Given the description of an element on the screen output the (x, y) to click on. 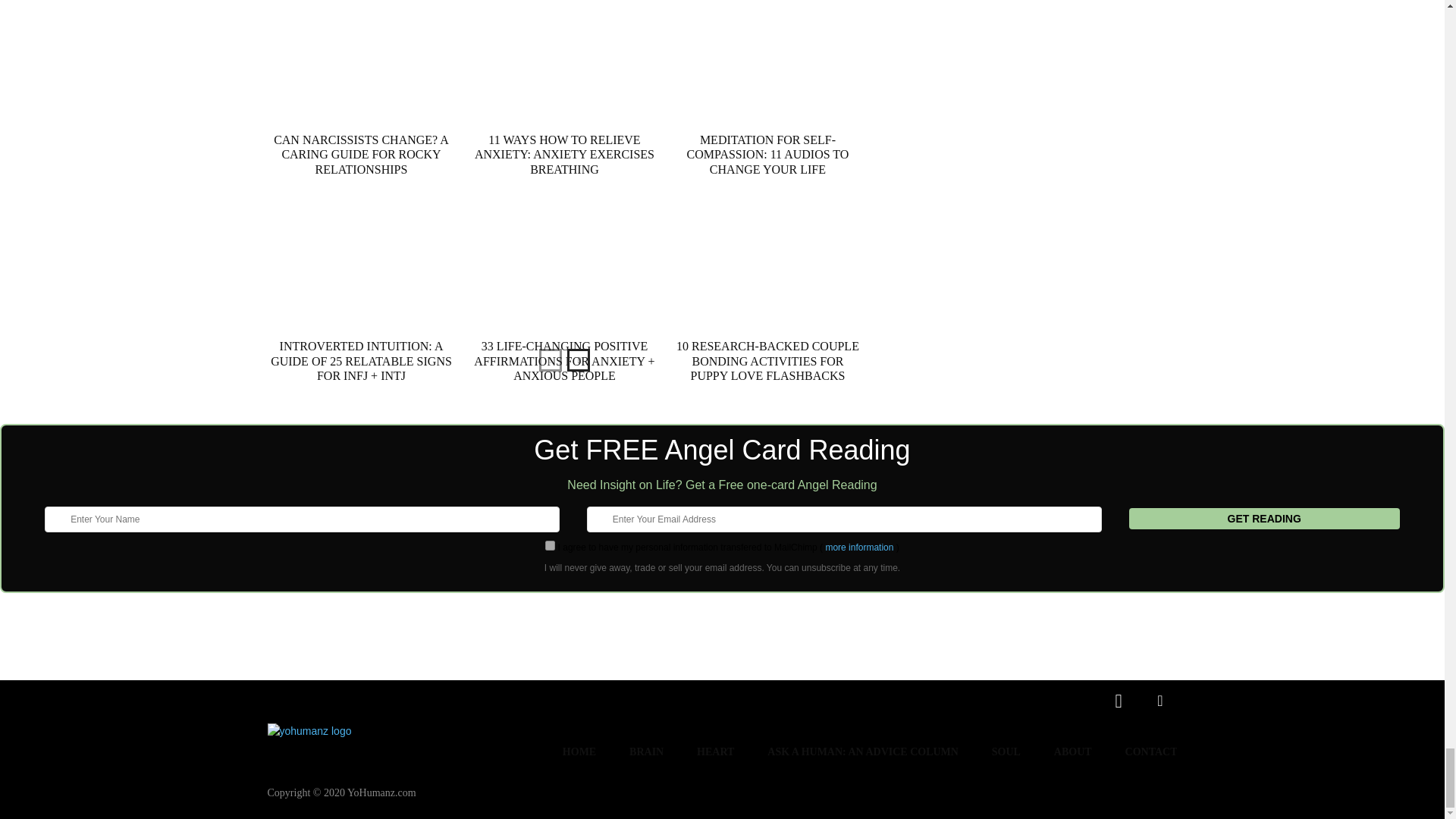
GET READING (1264, 518)
on (549, 545)
